Given the description of an element on the screen output the (x, y) to click on. 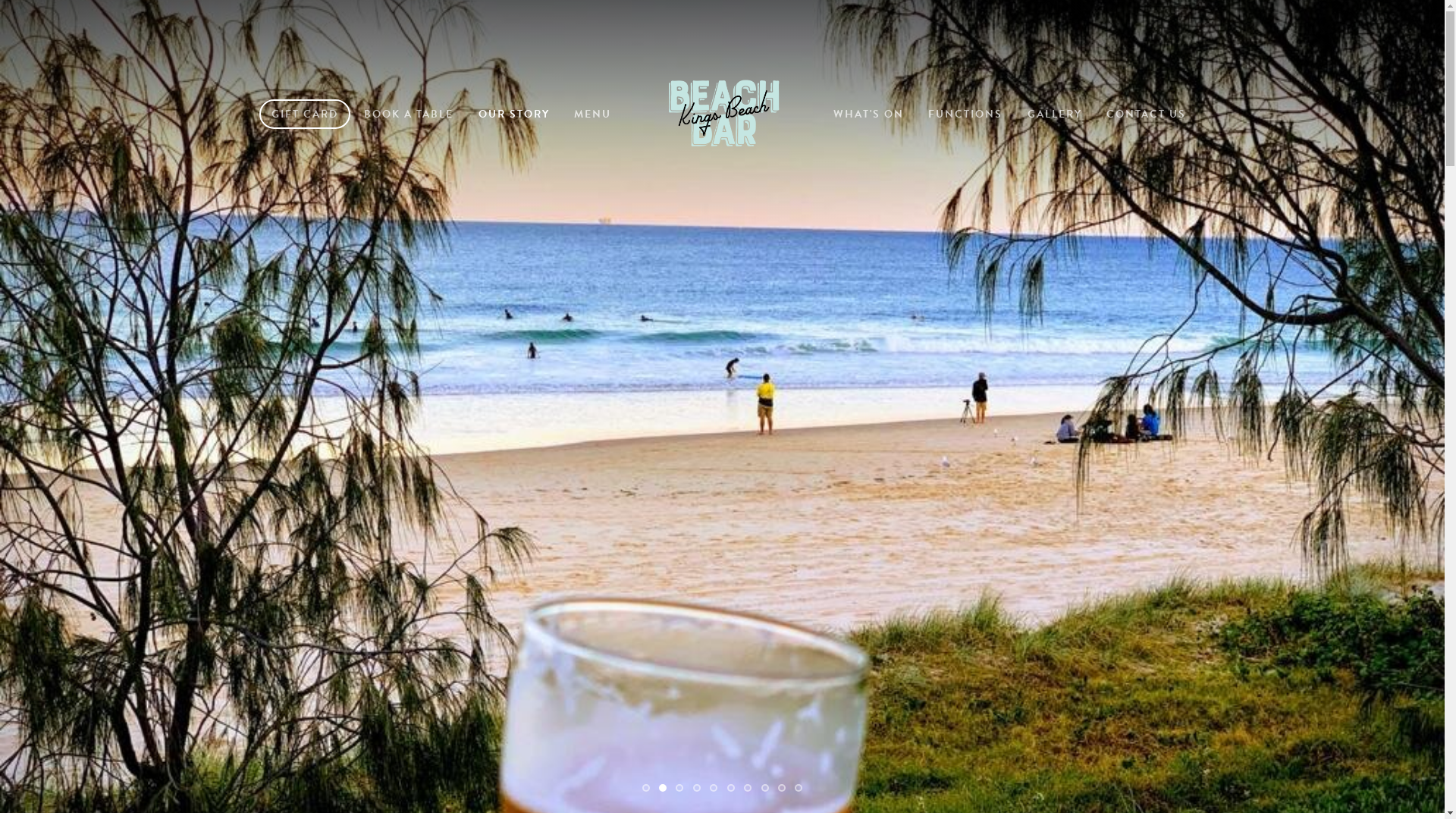
GALLERY Element type: text (1054, 113)
WHAT'S ON Element type: text (868, 113)
FUNCTIONS Element type: text (965, 113)
BOOK A TABLE Element type: text (408, 113)
GIFT CARD Element type: text (304, 113)
OUR STORY Element type: text (513, 113)
CONTACT US Element type: text (1145, 113)
MENU Element type: text (592, 113)
